Given the description of an element on the screen output the (x, y) to click on. 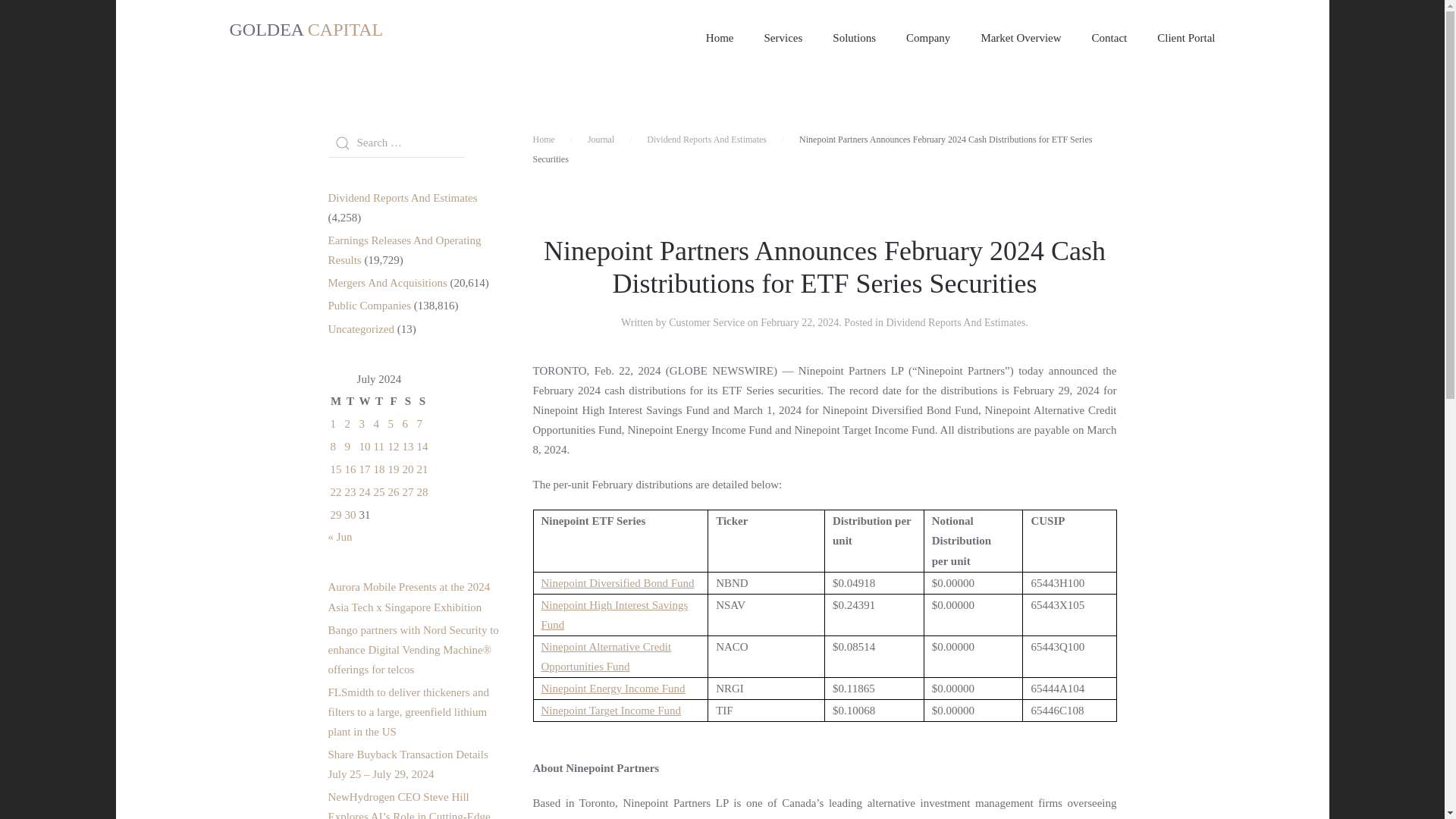
Ninepoint High Interest Savings Fund (614, 614)
GOLDEA CAPITAL (305, 38)
Ninepoint Alternative Credit Opportunities Fund (606, 656)
Dividend Reports And Estimates (706, 139)
Ninepoint Diversified Bond Fund (617, 582)
Solutions (853, 38)
Public Companies (368, 305)
Services (783, 38)
Uncategorized (360, 328)
Client Portal (1185, 38)
Dividend Reports And Estimates (955, 322)
Mergers And Acquisitions (386, 282)
Ninepoint Energy Income Fund (613, 688)
Home (543, 139)
Company (928, 38)
